Given the description of an element on the screen output the (x, y) to click on. 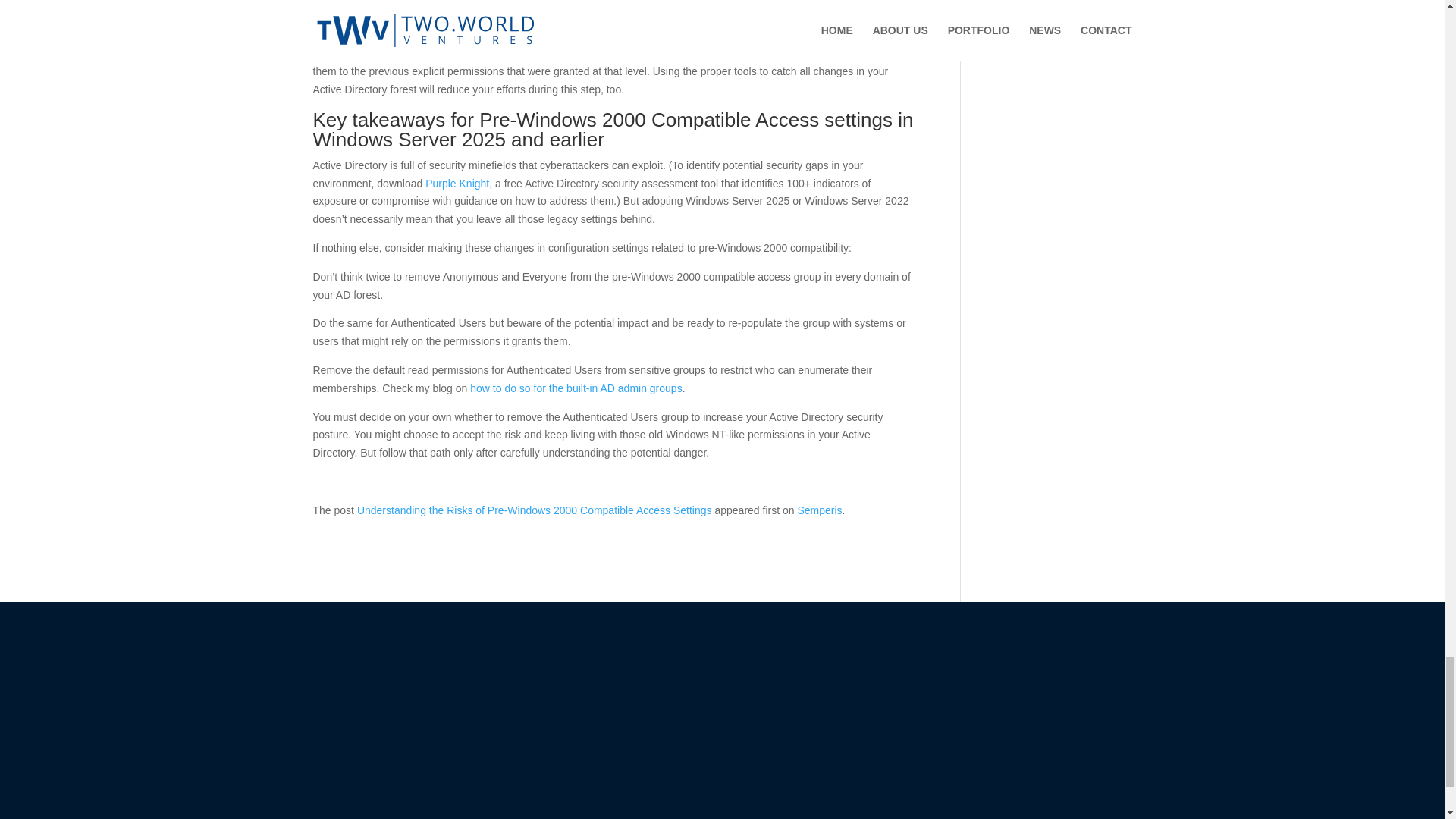
Semperis (818, 510)
Purple Knight (457, 183)
how to do so for the built-in AD admin groups (575, 387)
